Given the description of an element on the screen output the (x, y) to click on. 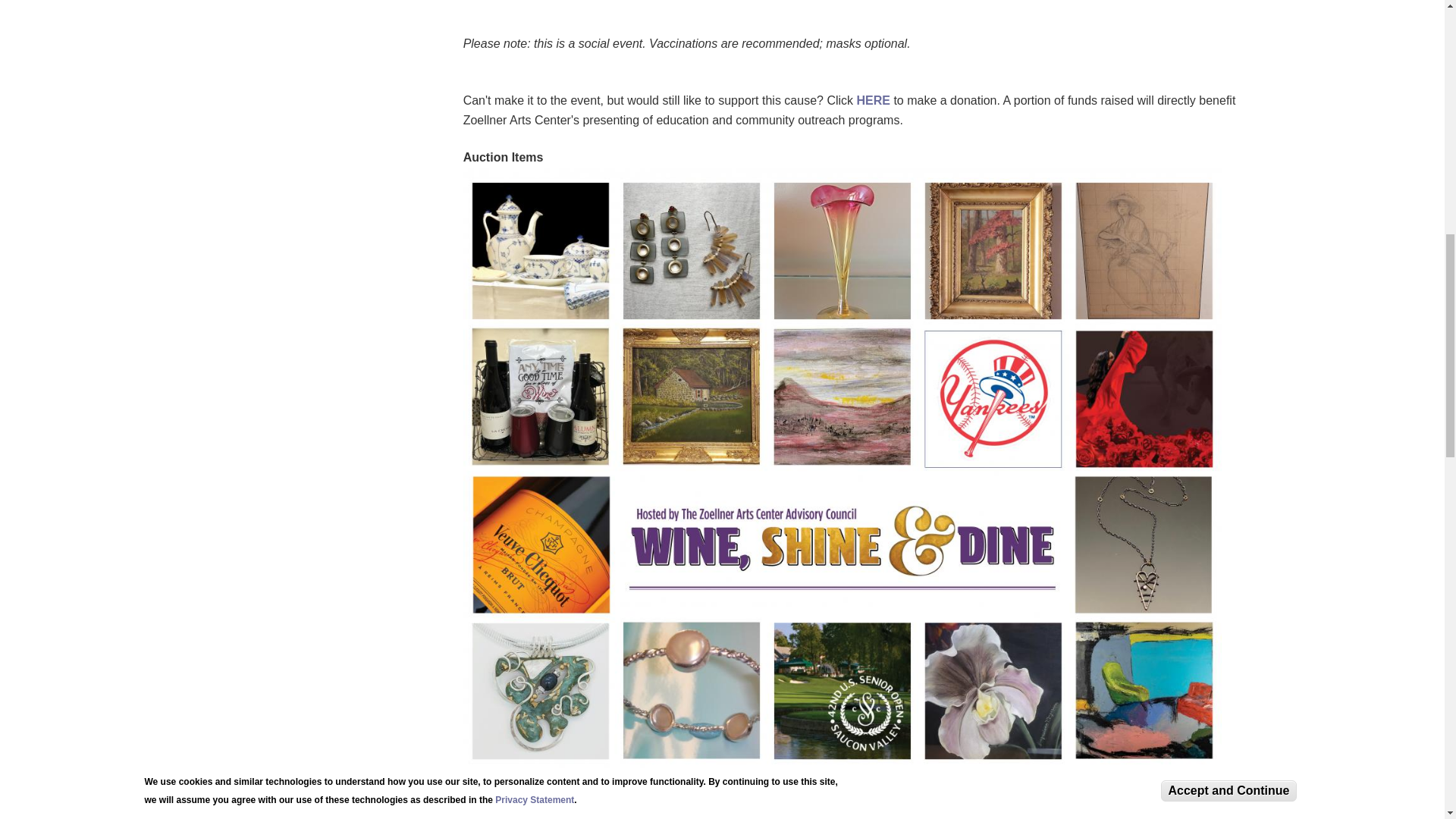
HERE (873, 100)
